Given the description of an element on the screen output the (x, y) to click on. 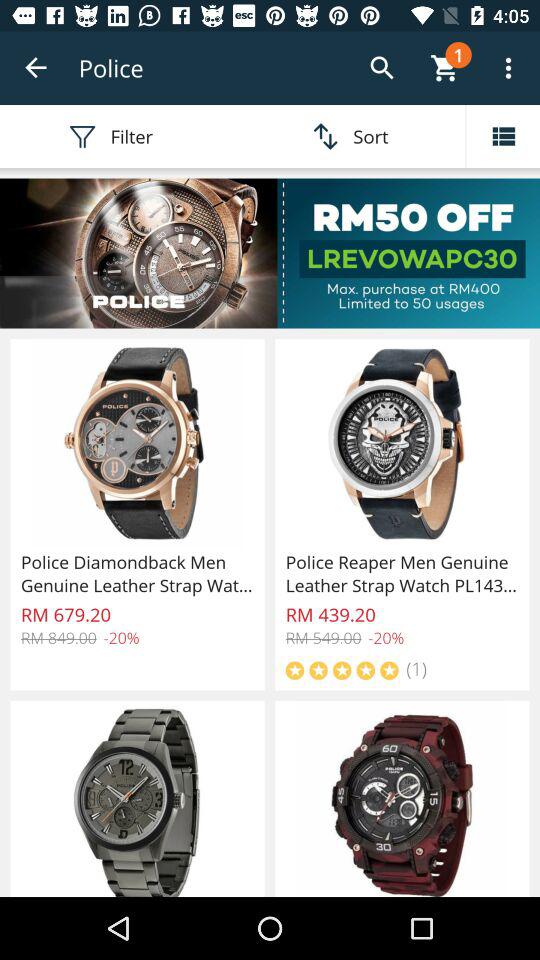
open the icon to the left of police icon (36, 68)
